Given the description of an element on the screen output the (x, y) to click on. 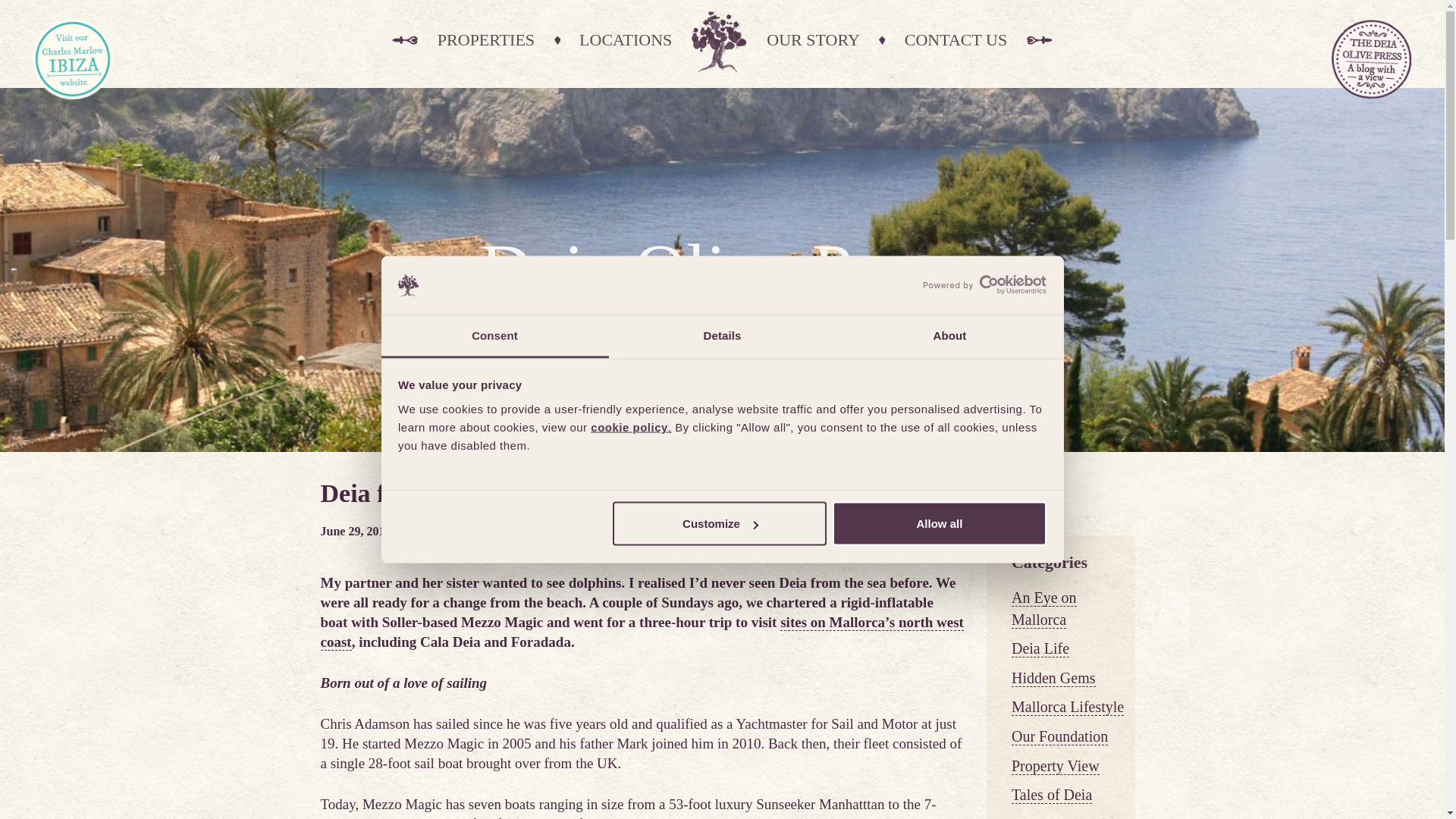
Consent (494, 335)
About (948, 335)
Details (721, 335)
cookie policy (629, 426)
